Given the description of an element on the screen output the (x, y) to click on. 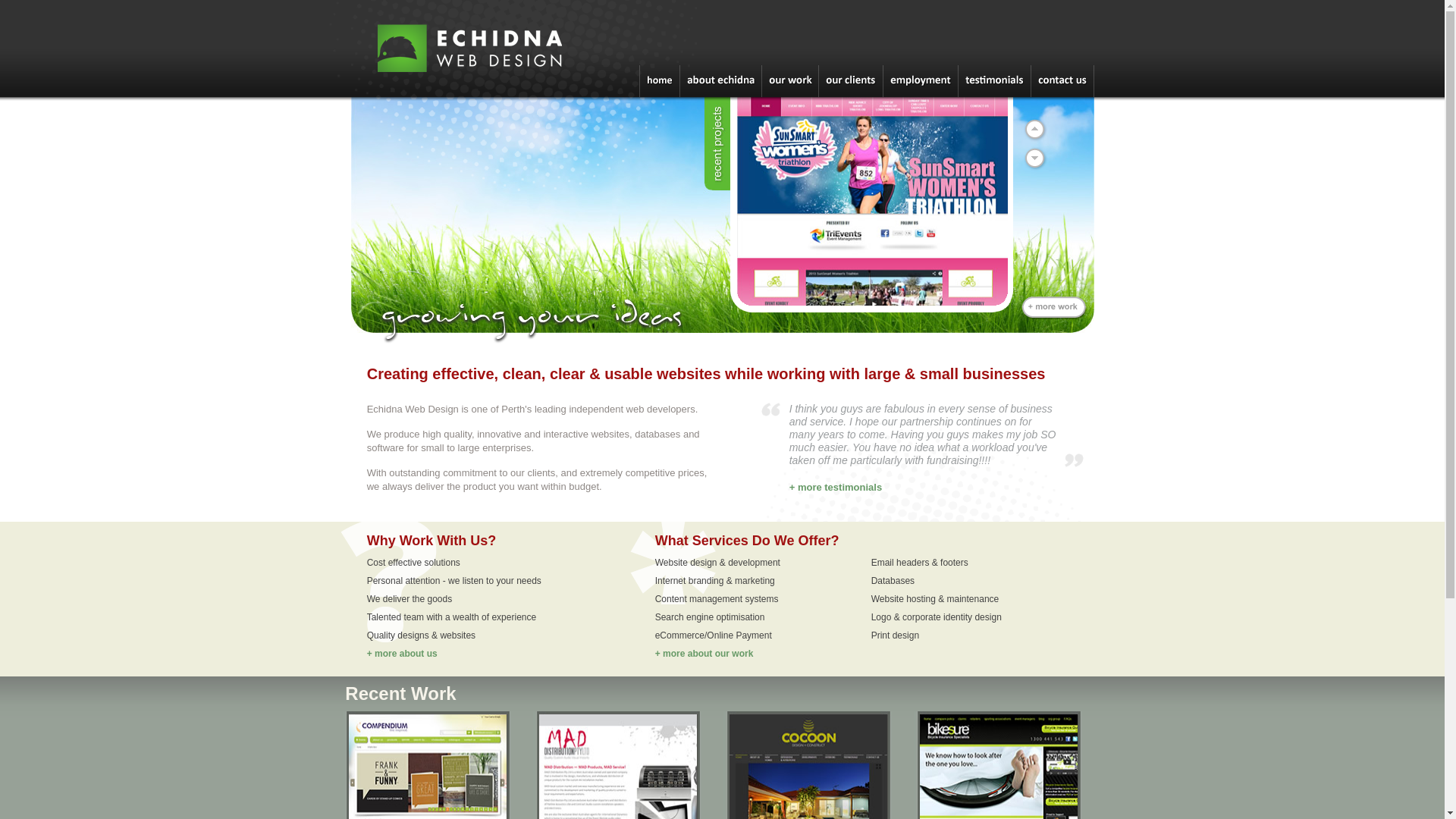
Back to the Echidna Web Design Element type: hover (494, 93)
+ more about our work Element type: text (704, 653)
SunSmart Womens Triathlon Element type: hover (872, 201)
+ more about us Element type: text (402, 653)
+ more testimonials Element type: text (835, 486)
  Element type: text (870, 205)
